Given the description of an element on the screen output the (x, y) to click on. 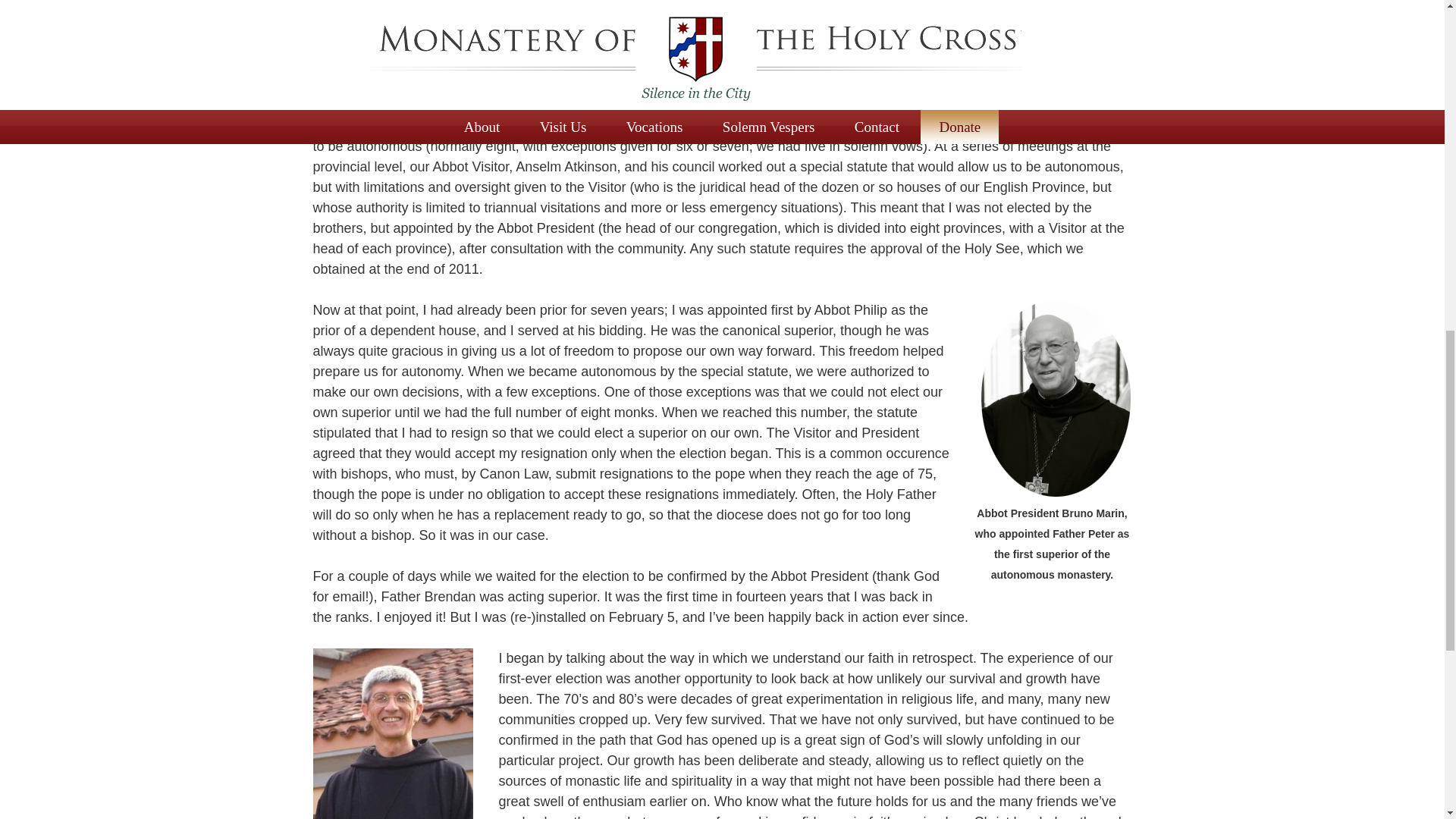
Thien Tam (748, 23)
